Given the description of an element on the screen output the (x, y) to click on. 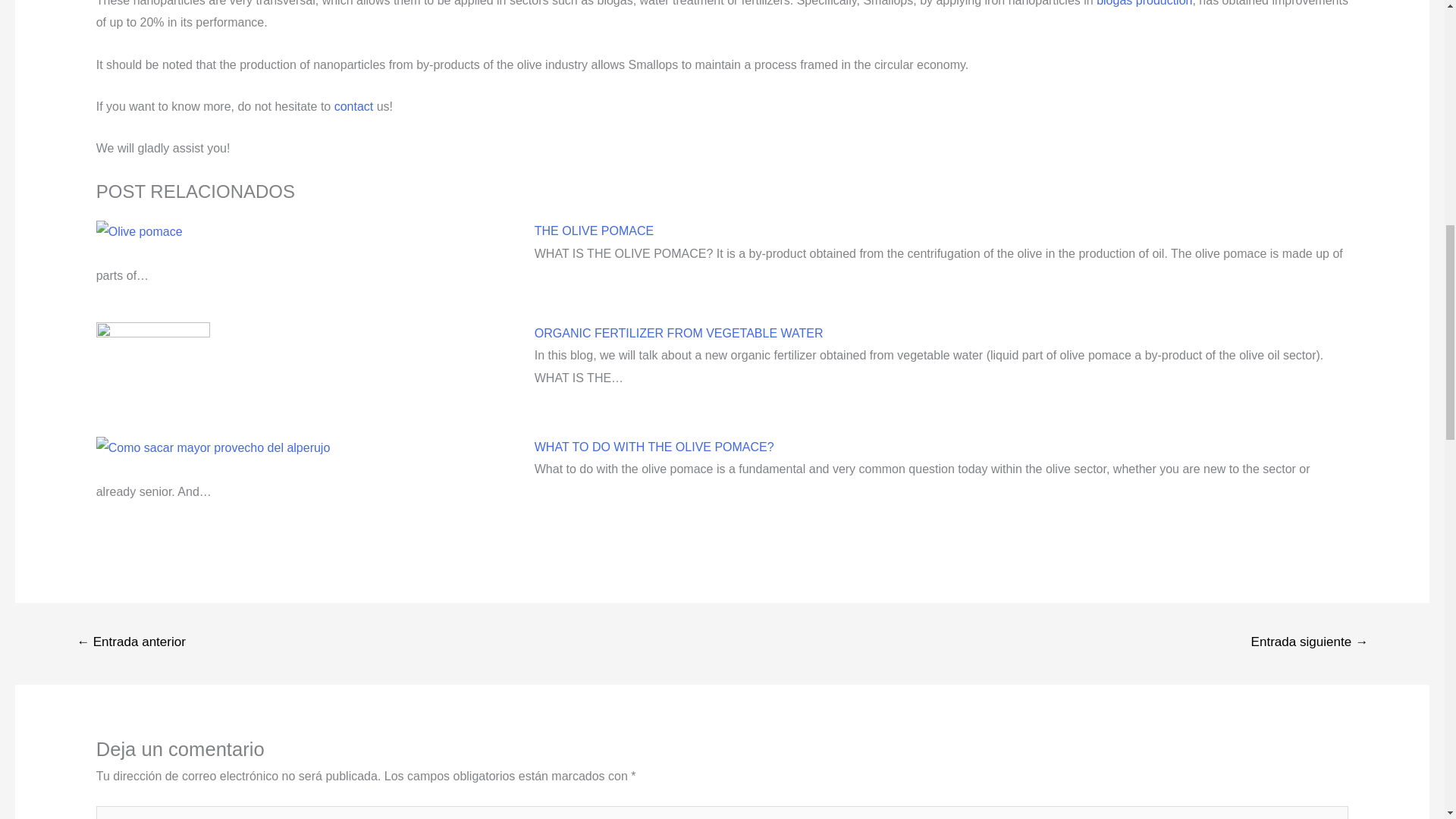
ORGANIC FERTILIZER FROM VEGETABLE WATER (679, 332)
WHAT TO DO WITH THE OLIVE POMACE? (654, 446)
biogas production (1144, 3)
contact (354, 106)
THE OLIVE POMACE (593, 230)
